Given the description of an element on the screen output the (x, y) to click on. 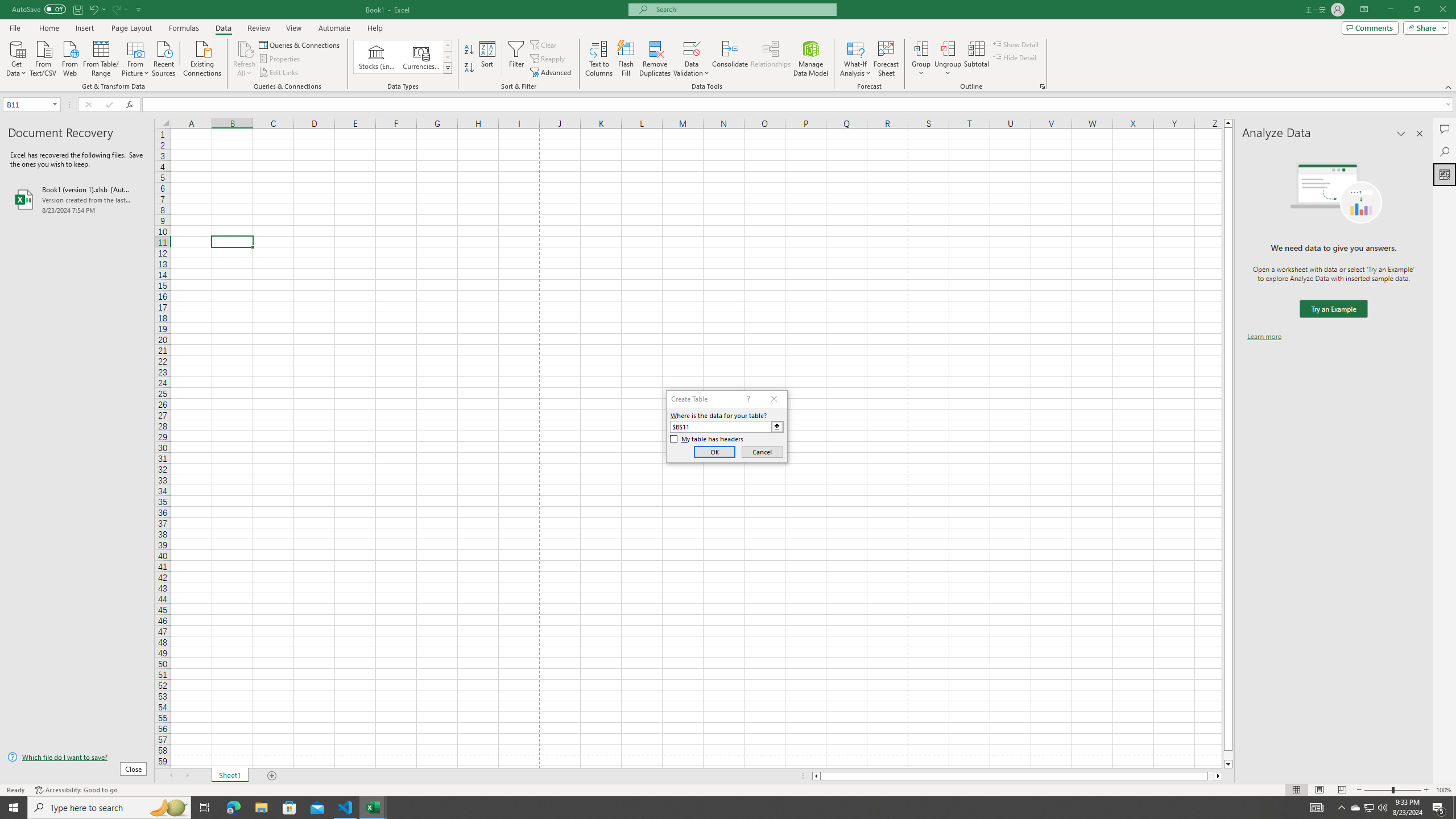
Book1 (version 1).xlsb  [AutoRecovered] (77, 199)
Get Data (16, 57)
Restore Down (1416, 9)
Existing Connections (202, 57)
Remove Duplicates (654, 58)
From Text/CSV (43, 57)
Relationships (770, 58)
Which file do I want to save? (77, 757)
